Given the description of an element on the screen output the (x, y) to click on. 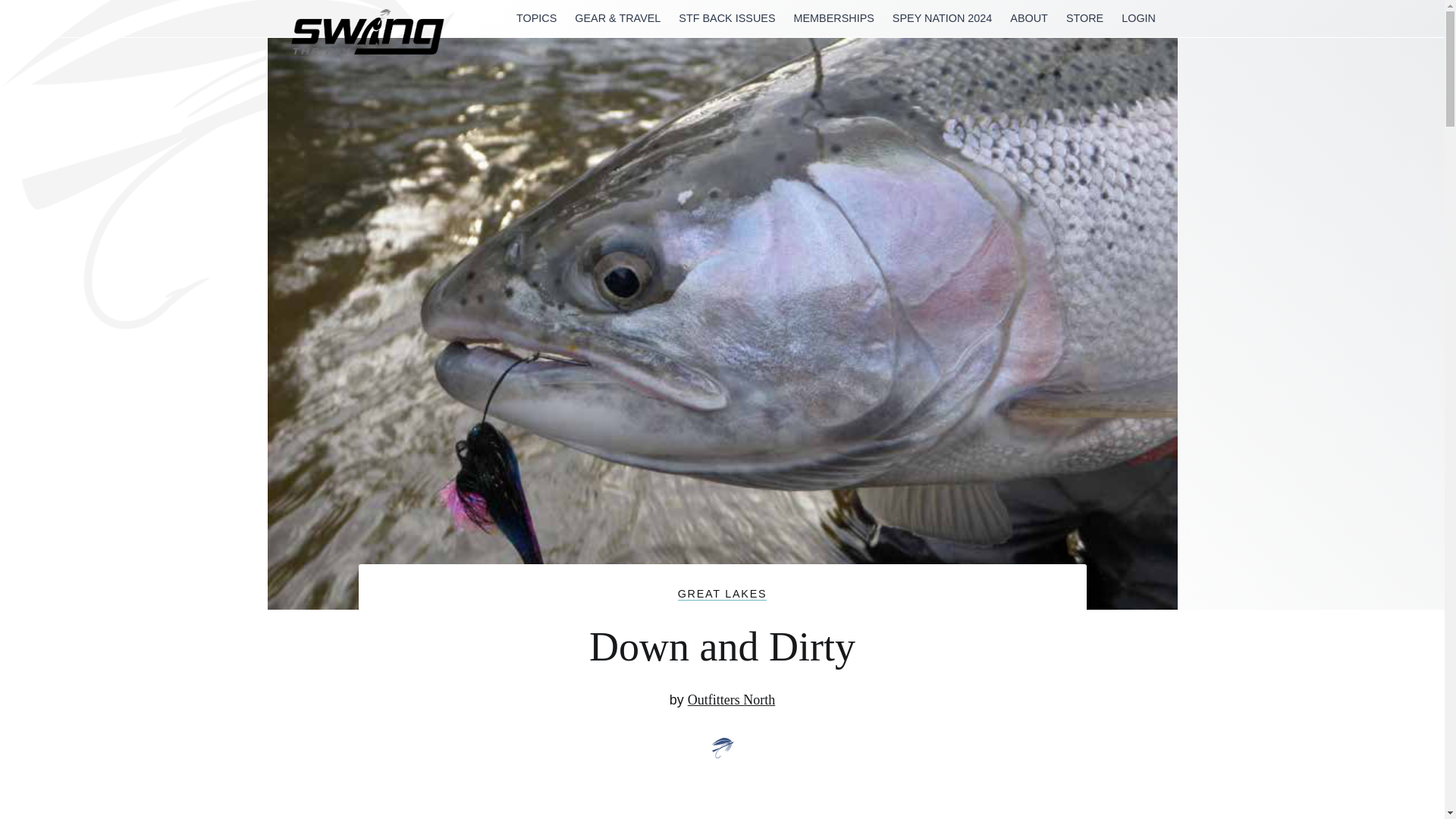
STF BACK ISSUES (726, 18)
ABOUT (1029, 18)
TOPICS (536, 18)
Swing the Fly (331, 84)
SPEY NATION 2024 (941, 18)
MEMBERSHIPS (833, 18)
